Given the description of an element on the screen output the (x, y) to click on. 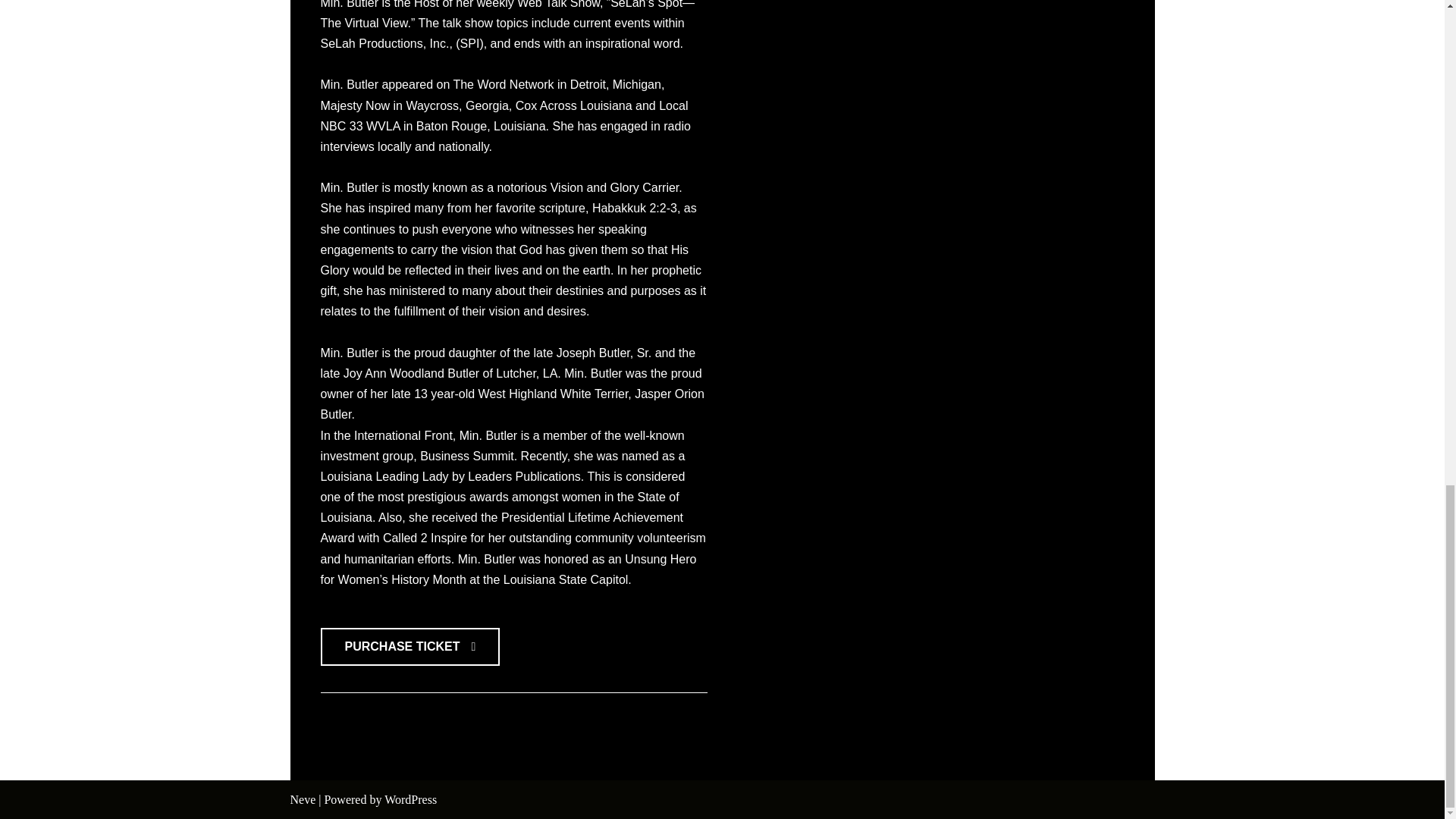
WordPress (410, 799)
Neve (302, 799)
PURCHASE TICKET (409, 646)
